Given the description of an element on the screen output the (x, y) to click on. 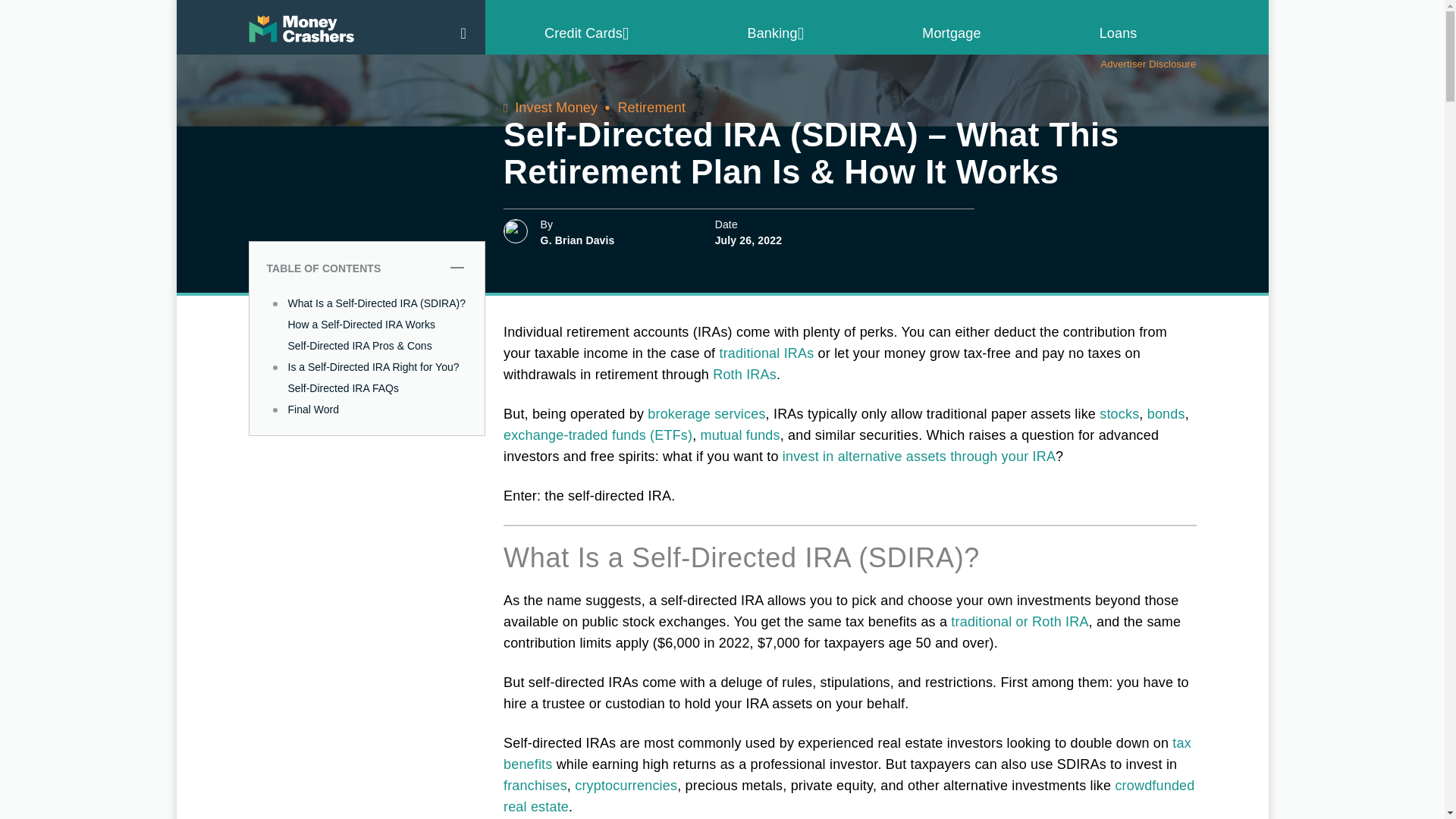
Credit Cards (586, 33)
Loans (1118, 33)
Mortgage (950, 33)
Banking (776, 33)
